Given the description of an element on the screen output the (x, y) to click on. 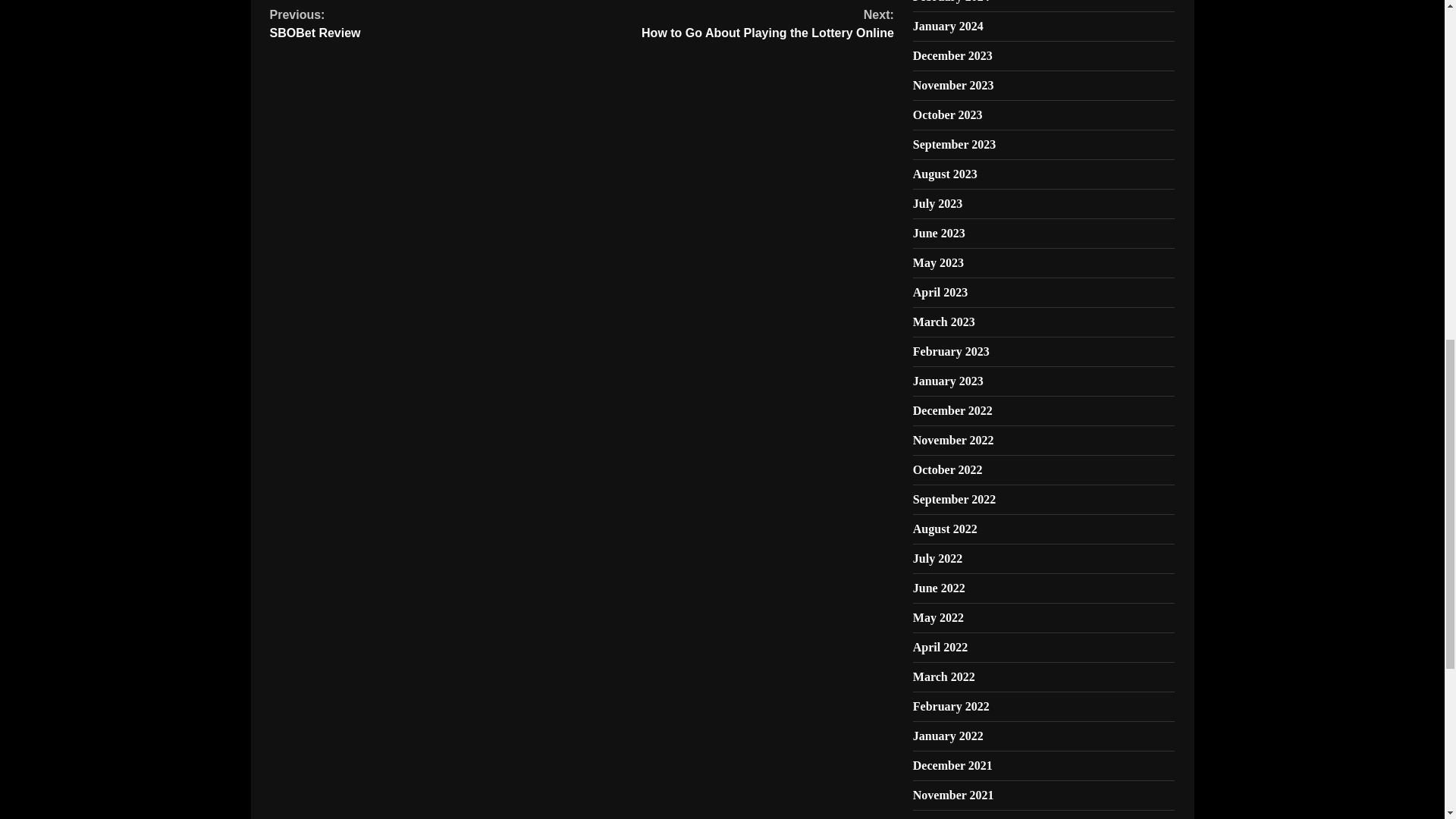
August 2023 (944, 173)
March 2023 (943, 321)
February 2023 (951, 350)
May 2023 (937, 262)
October 2023 (947, 114)
February 2024 (951, 1)
December 2023 (952, 55)
June 2023 (425, 23)
January 2023 (938, 232)
